Given the description of an element on the screen output the (x, y) to click on. 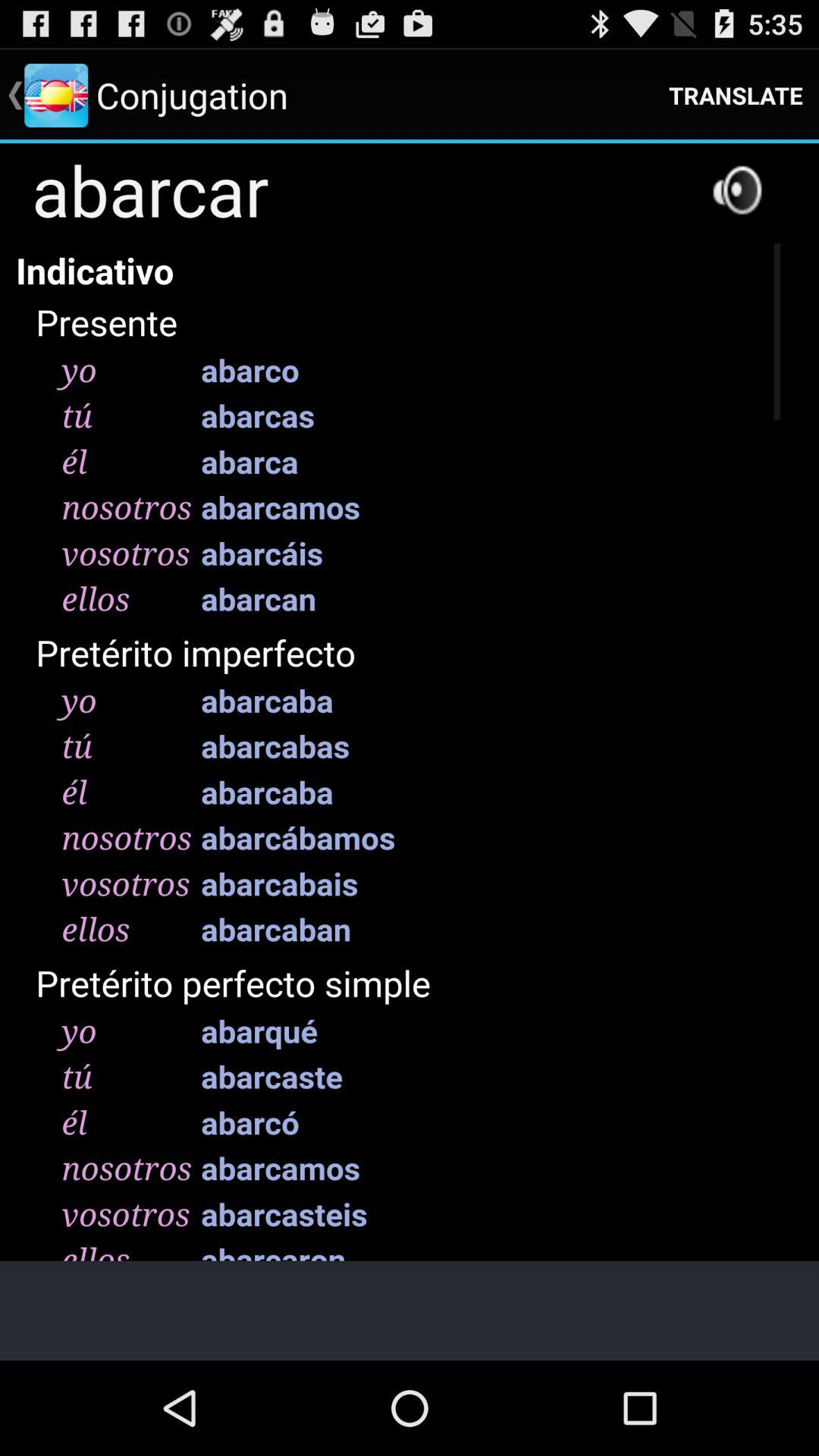
adjust sound (737, 189)
